Given the description of an element on the screen output the (x, y) to click on. 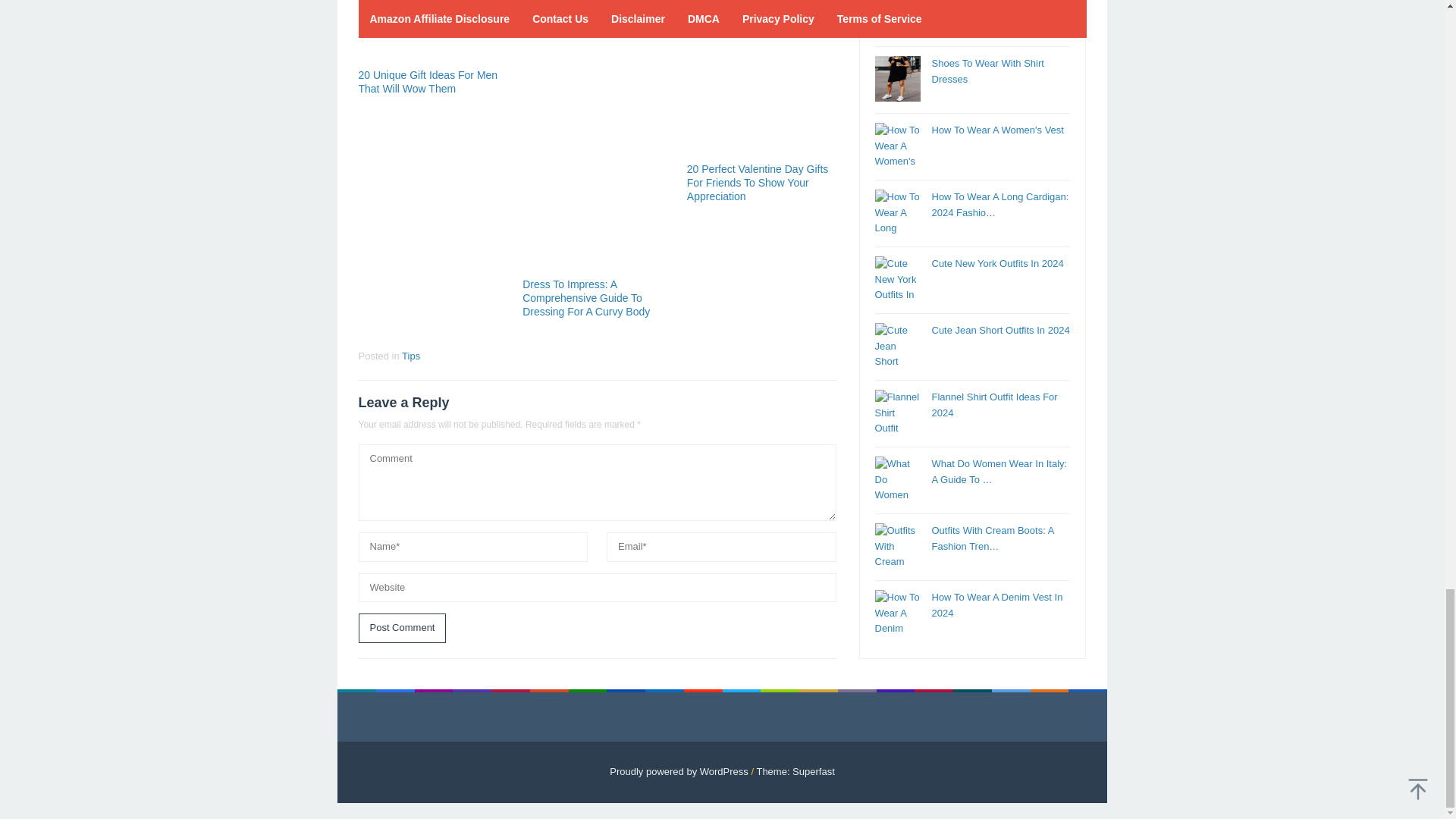
Post Comment (401, 627)
20 Unique Gift Ideas For Men That Will Wow Them (427, 81)
Theme: Superfast (794, 771)
Proudly powered by WordPress (679, 771)
